Given the description of an element on the screen output the (x, y) to click on. 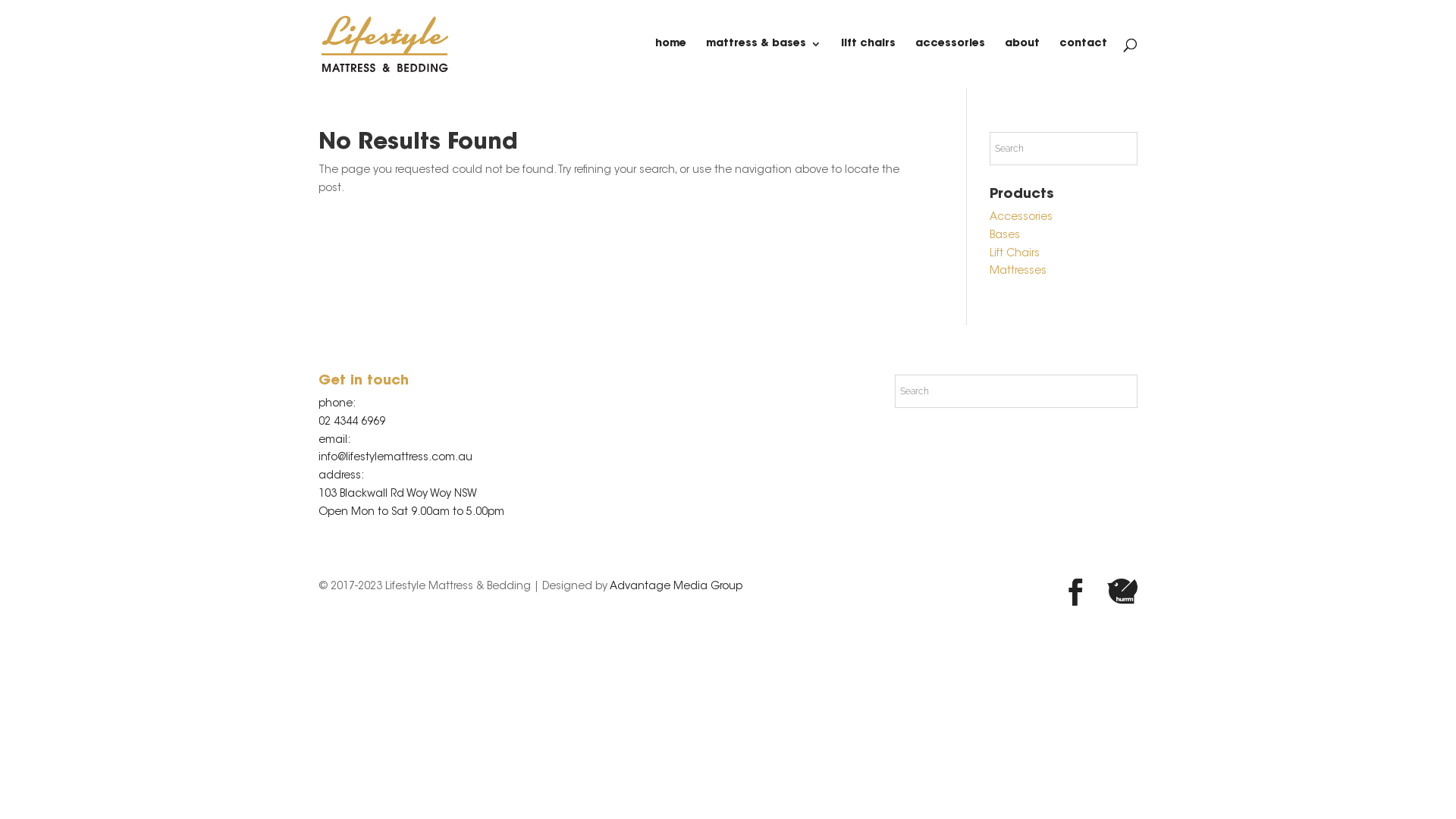
Accessories Element type: text (1020, 217)
Lift Chairs Element type: text (1014, 253)
home Element type: text (670, 62)
lift chairs Element type: text (867, 62)
Mattresses Element type: text (1017, 271)
accessories Element type: text (950, 62)
Bases Element type: text (1004, 235)
mattress & bases Element type: text (763, 62)
about Element type: text (1021, 62)
phone:
02 4344 6969 Element type: text (351, 412)
email:
info@lifestylemattress.com.au Element type: text (395, 449)
Advantage Media Group Element type: text (675, 586)
contact Element type: text (1083, 62)
